Given the description of an element on the screen output the (x, y) to click on. 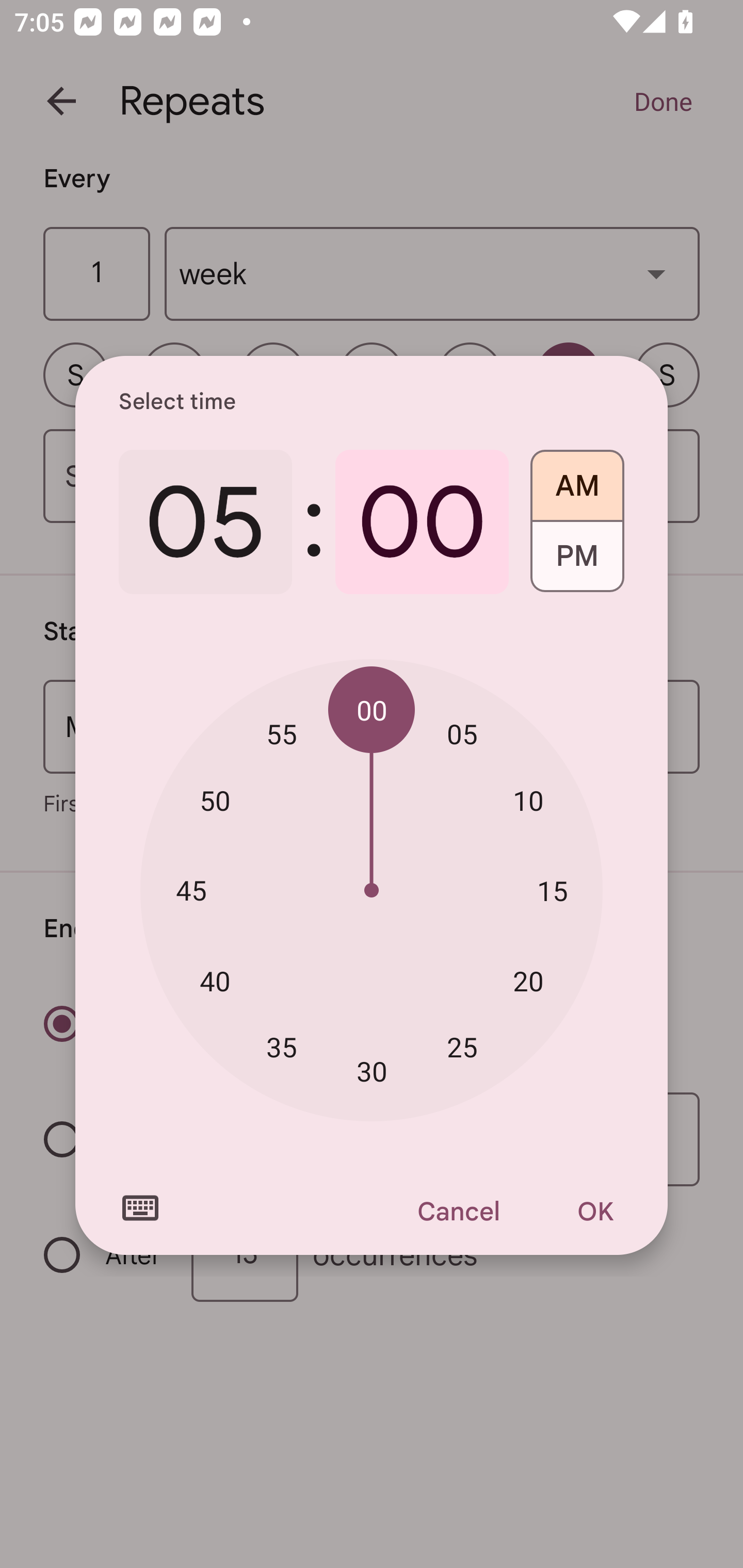
AM (577, 478)
05 5 o'clock (204, 522)
00 0 minutes (421, 522)
PM (577, 563)
00 00 minutes (371, 710)
55 55 minutes (281, 733)
05 05 minutes (462, 733)
50 50 minutes (214, 800)
10 10 minutes (528, 800)
45 45 minutes (190, 889)
15 15 minutes (551, 890)
40 40 minutes (214, 980)
20 20 minutes (528, 980)
35 35 minutes (281, 1046)
25 25 minutes (462, 1046)
30 30 minutes (371, 1071)
Switch to text input mode for the time input. (140, 1208)
Cancel (458, 1211)
OK (595, 1211)
